Given the description of an element on the screen output the (x, y) to click on. 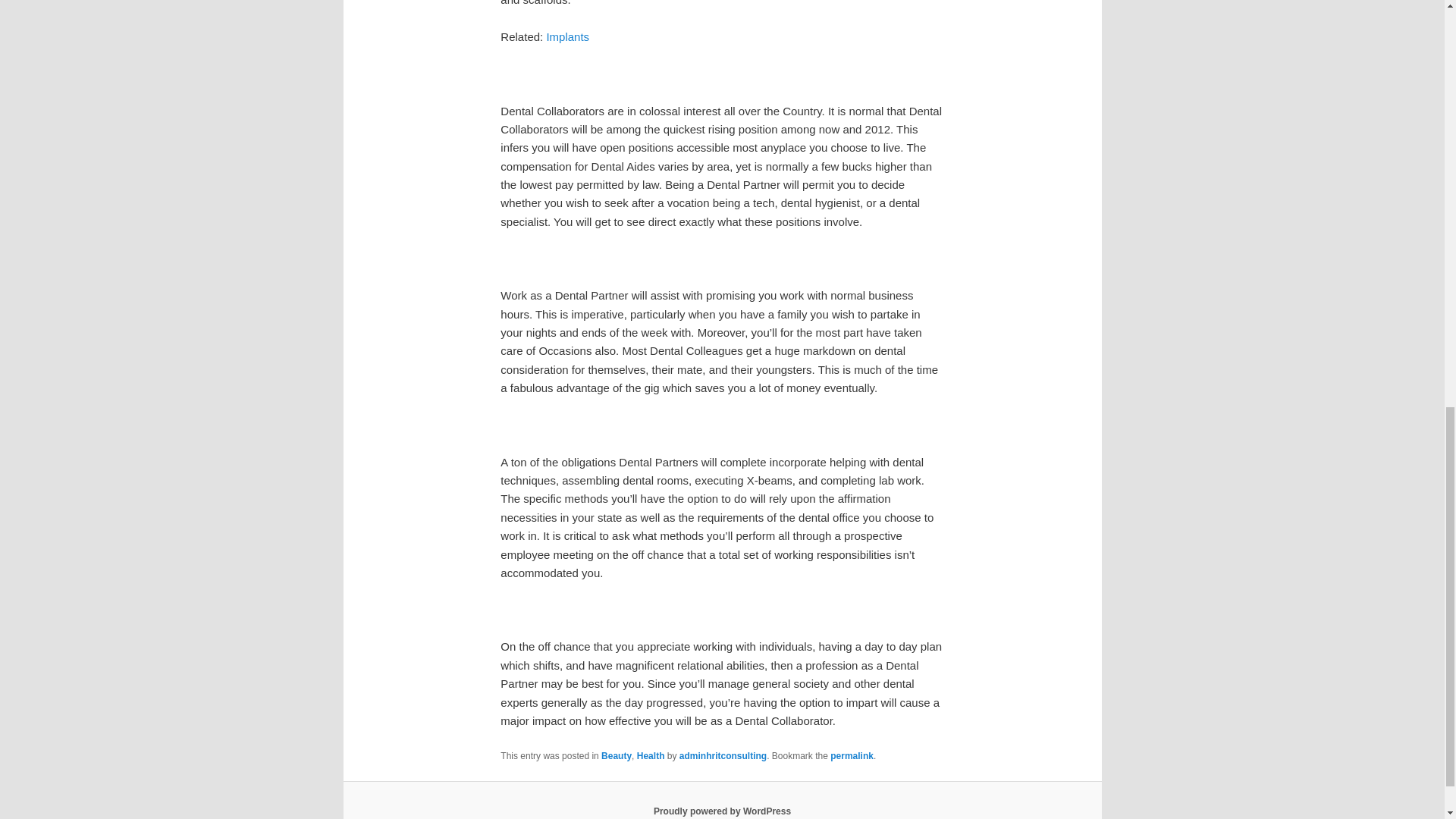
Health (651, 756)
permalink (851, 756)
Proudly powered by WordPress (721, 810)
Beauty (616, 756)
adminhritconsulting (723, 756)
Implants (567, 36)
Semantic Personal Publishing Platform (721, 810)
